Given the description of an element on the screen output the (x, y) to click on. 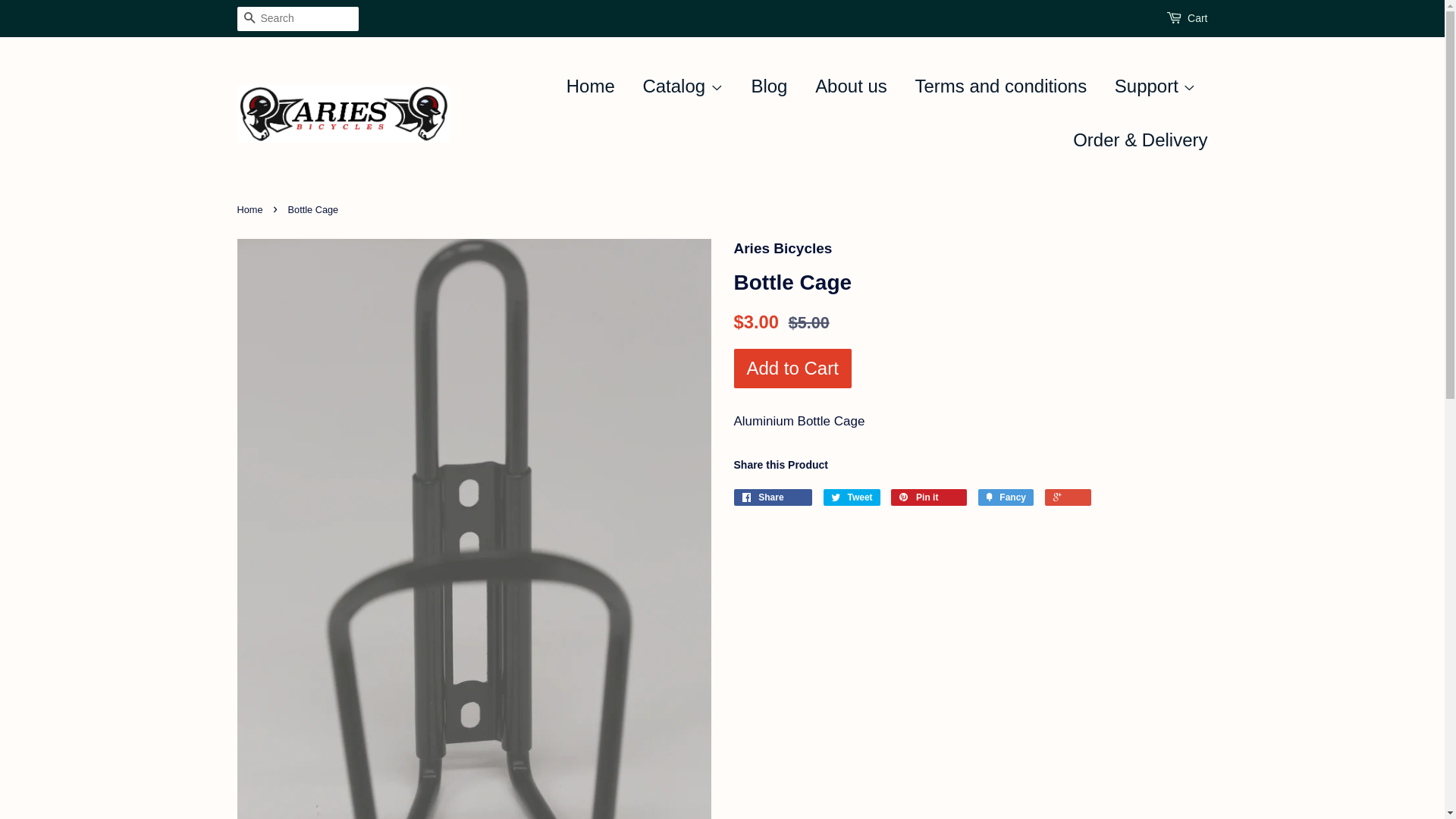
Home Element type: text (596, 86)
Pin it Element type: text (928, 497)
Cart Element type: text (1197, 18)
Home Element type: text (251, 209)
Order & Delivery Element type: text (1134, 140)
Search Element type: text (248, 18)
Share Element type: text (773, 497)
Catalog Element type: text (682, 86)
About us Element type: text (850, 86)
Support Element type: text (1155, 86)
Terms and conditions Element type: text (1000, 86)
Add to Cart Element type: text (792, 368)
Fancy Element type: text (1005, 497)
Tweet Element type: text (851, 497)
Blog Element type: text (768, 86)
